Given the description of an element on the screen output the (x, y) to click on. 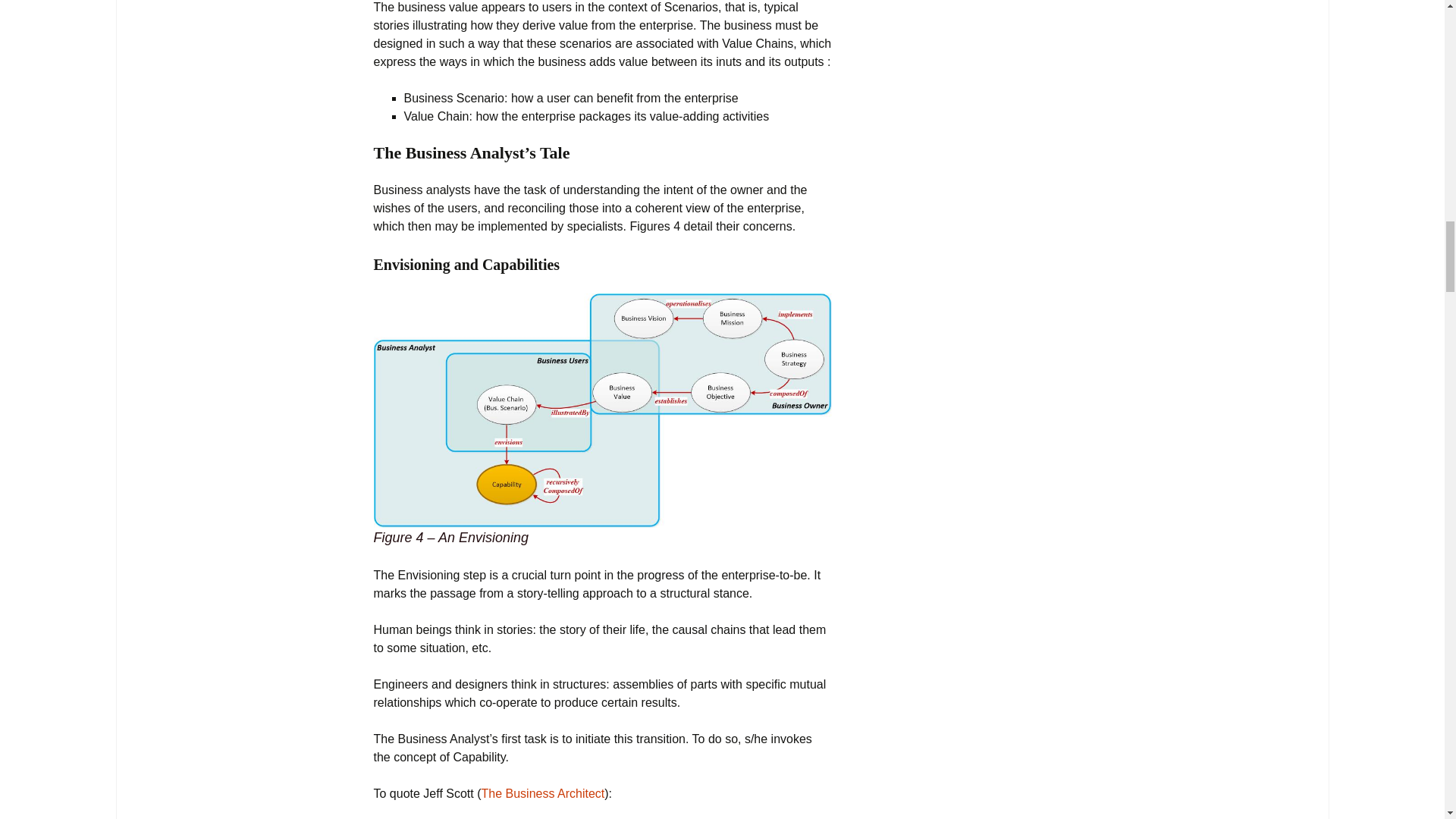
The Business Architect (543, 793)
The Business Architect (543, 793)
